Given the description of an element on the screen output the (x, y) to click on. 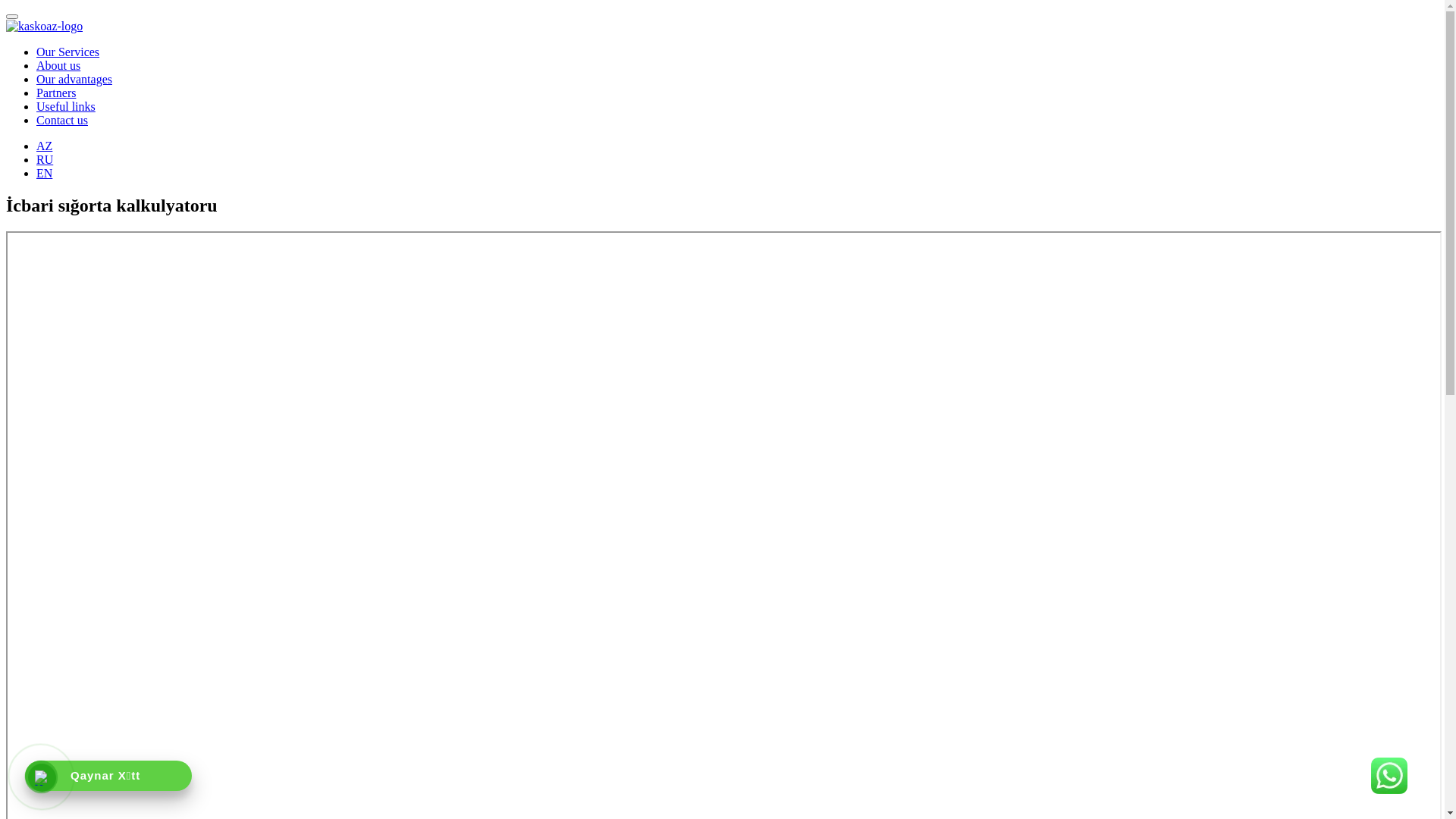
Contact us Element type: text (61, 119)
AZ Element type: text (44, 145)
EN Element type: text (44, 172)
Partners Element type: text (55, 92)
Our advantages Element type: text (74, 78)
About us Element type: text (58, 65)
Useful links Element type: text (65, 106)
RU Element type: text (44, 159)
Our Services Element type: text (67, 51)
